Given the description of an element on the screen output the (x, y) to click on. 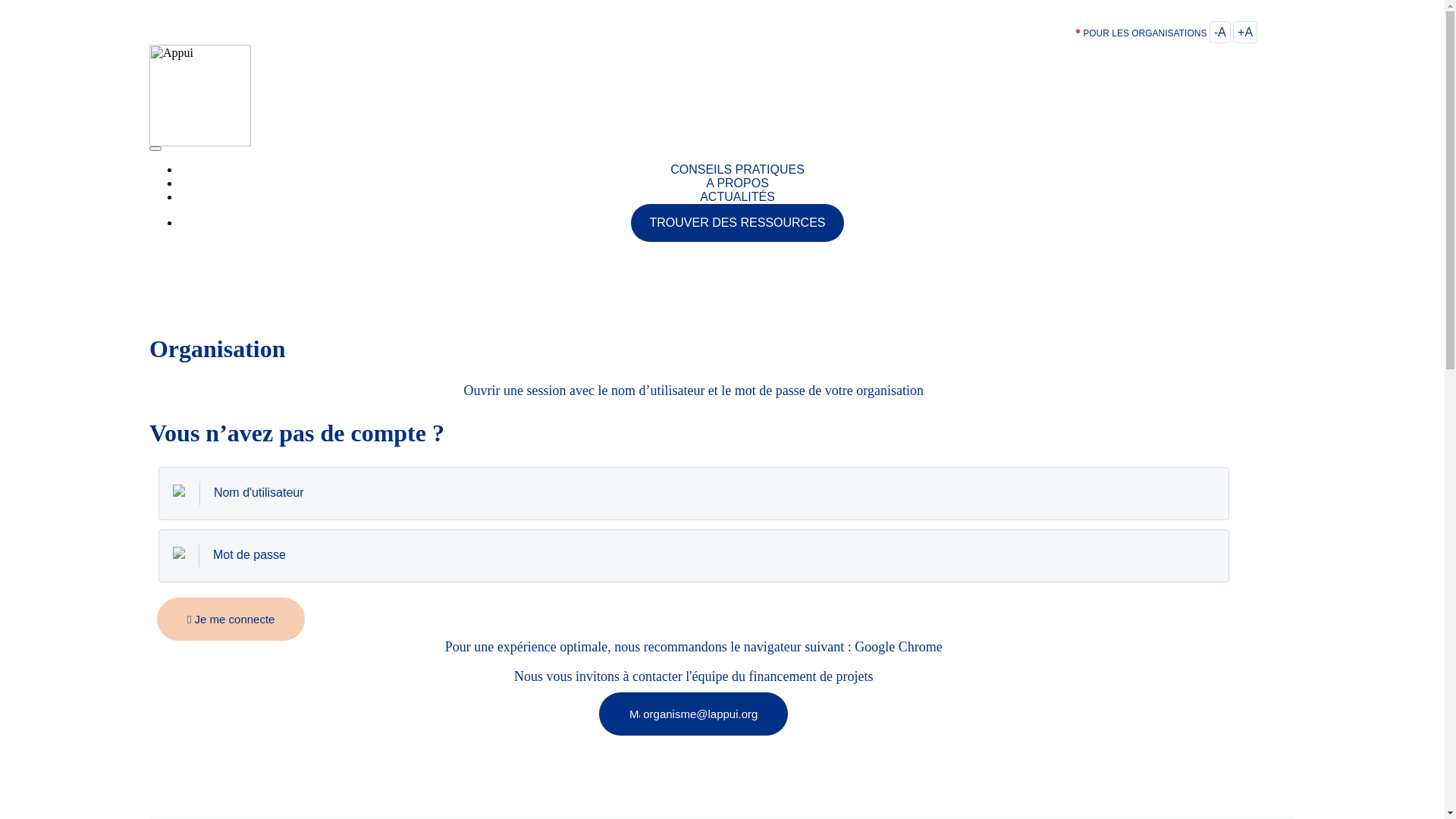
-A Element type: text (1219, 32)
A PROPOS Element type: text (737, 183)
TROUVER DES RESSOURCES Element type: text (736, 222)
CONSEILS PRATIQUES Element type: text (737, 169)
+A Element type: text (1245, 32)
organisme@lappui.org Element type: text (693, 713)
